Given the description of an element on the screen output the (x, y) to click on. 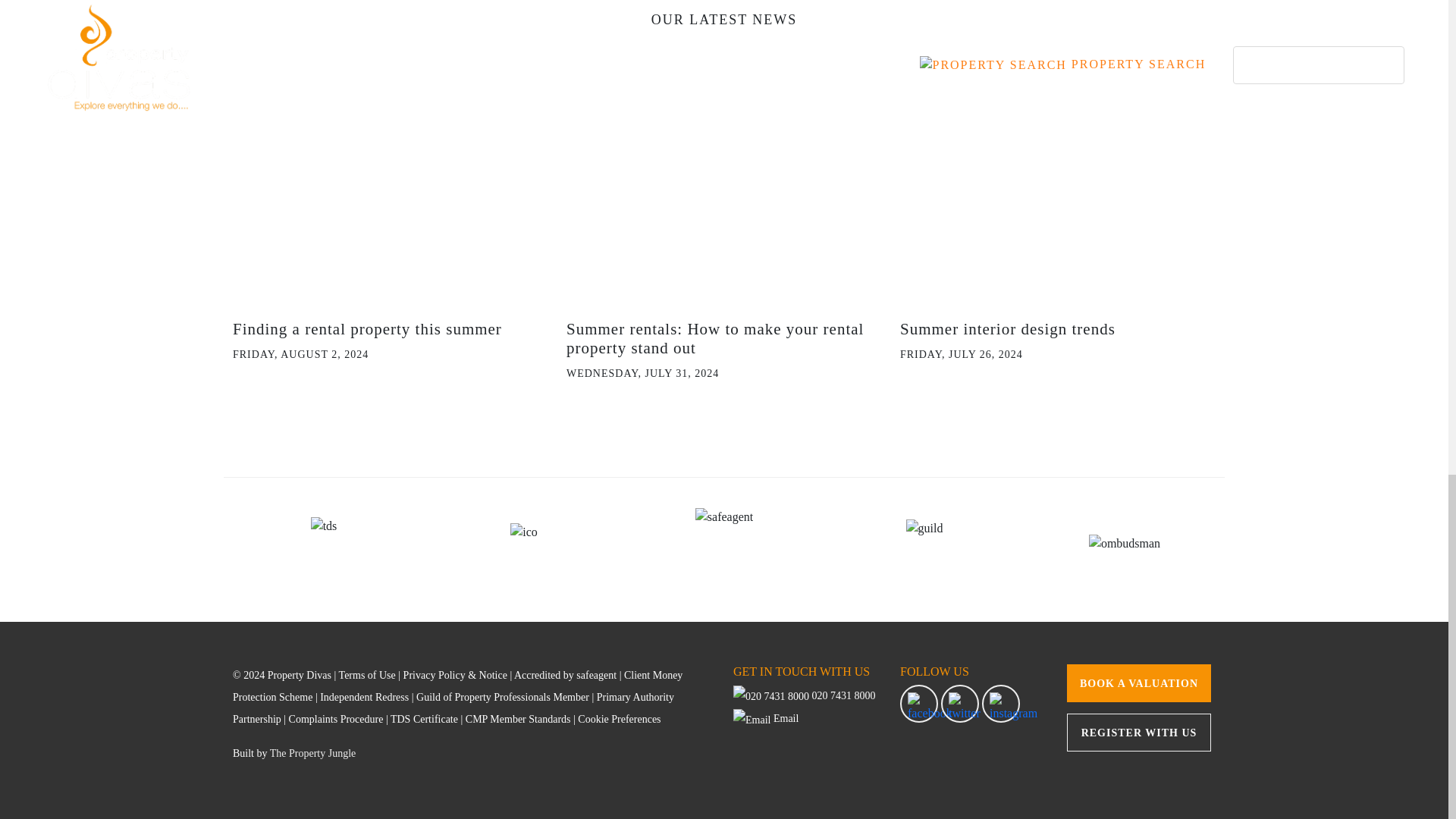
Terms of Use (367, 674)
